Given the description of an element on the screen output the (x, y) to click on. 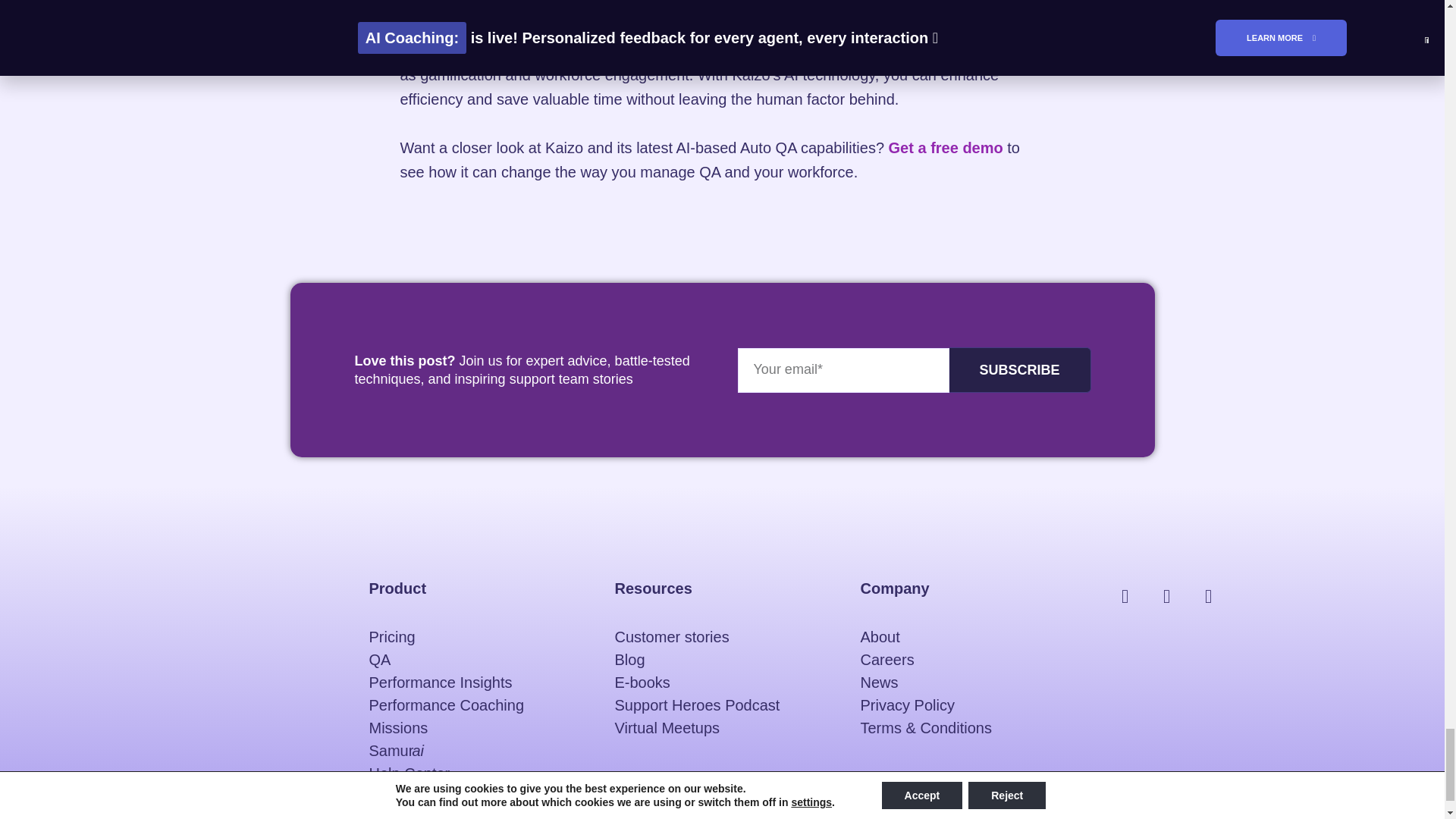
Pricing (475, 636)
QA (475, 659)
Get a free demo (945, 147)
Kaizo (420, 50)
Performance Insights (475, 681)
SUBSCRIBE (1019, 370)
